Given the description of an element on the screen output the (x, y) to click on. 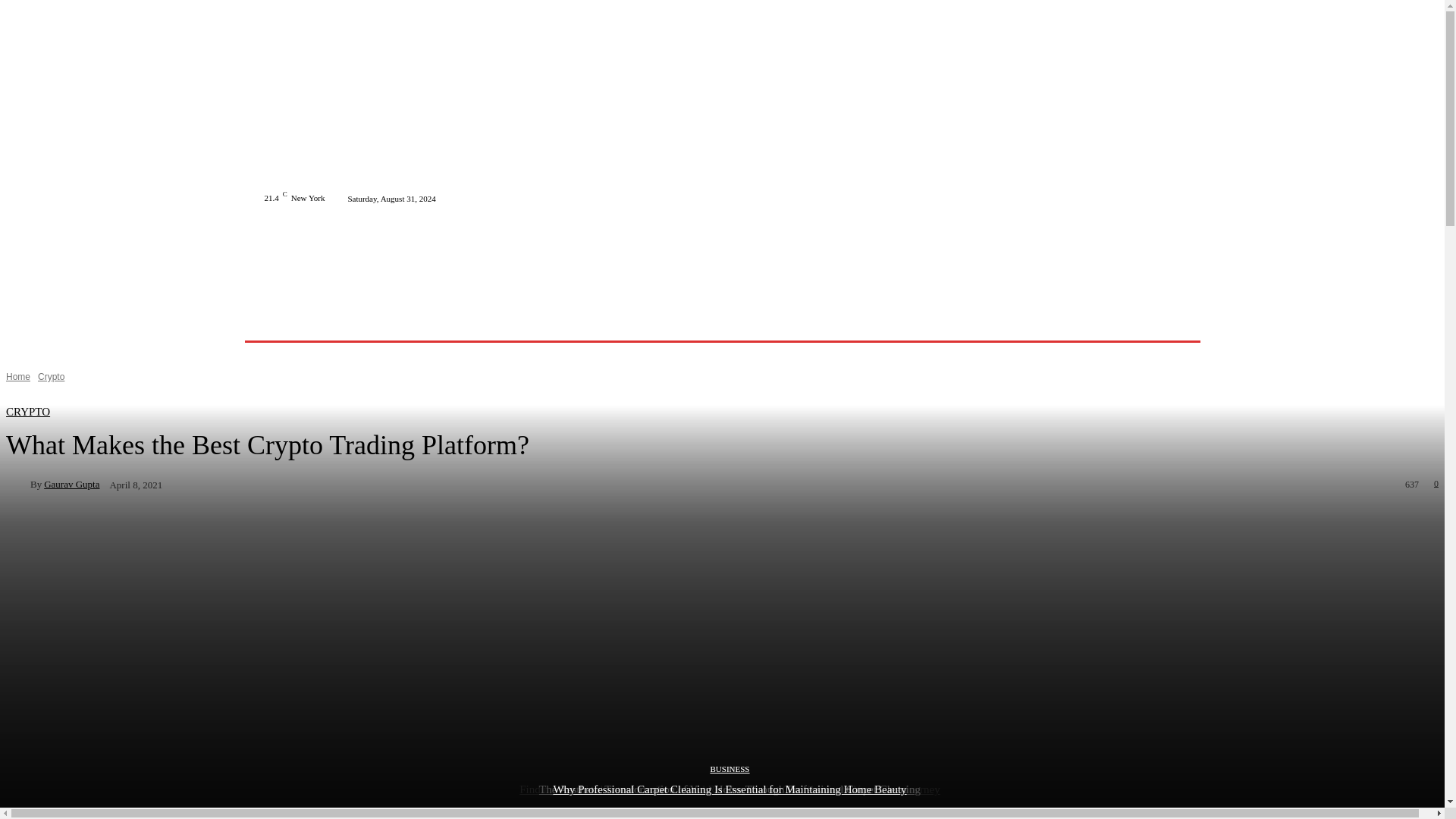
Business (395, 321)
View all posts in Crypto (50, 376)
Fashion (448, 321)
Home (307, 321)
Digital Marketing (623, 321)
gaurav gupta (17, 483)
Tech (348, 321)
Home Improvement (525, 321)
Contact Us (796, 321)
